Given the description of an element on the screen output the (x, y) to click on. 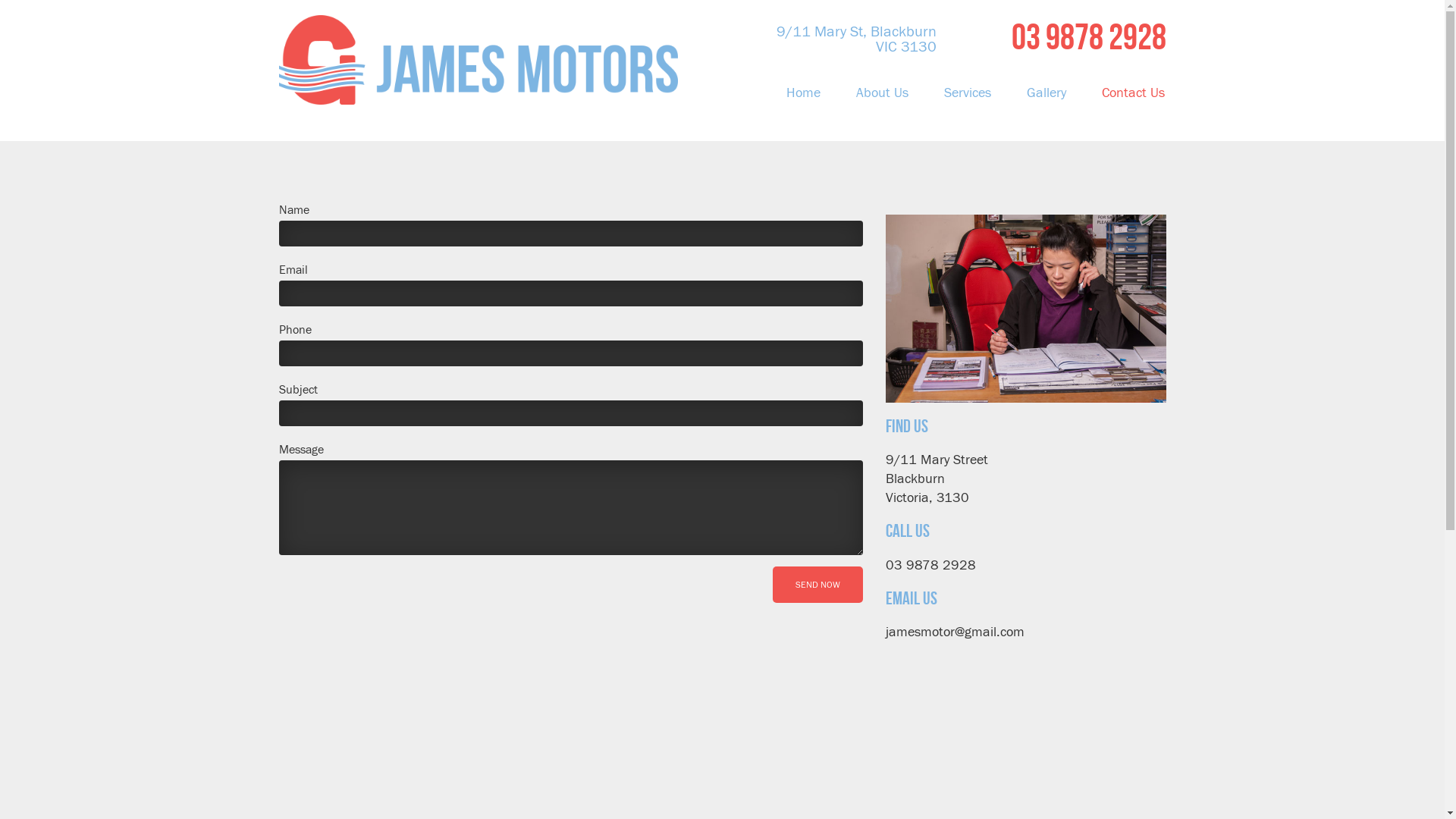
Services Element type: text (967, 93)
Home Element type: text (803, 93)
03 9878 2928 Element type: text (1055, 36)
9/11 Mary St, Blackburn
VIC 3130 Element type: text (832, 36)
Gallery Element type: text (1045, 93)
SEND NOW Element type: text (816, 584)
About Us Element type: text (882, 93)
Contact Us Element type: text (1124, 93)
James Motor Repairs Element type: hover (478, 50)
